Given the description of an element on the screen output the (x, y) to click on. 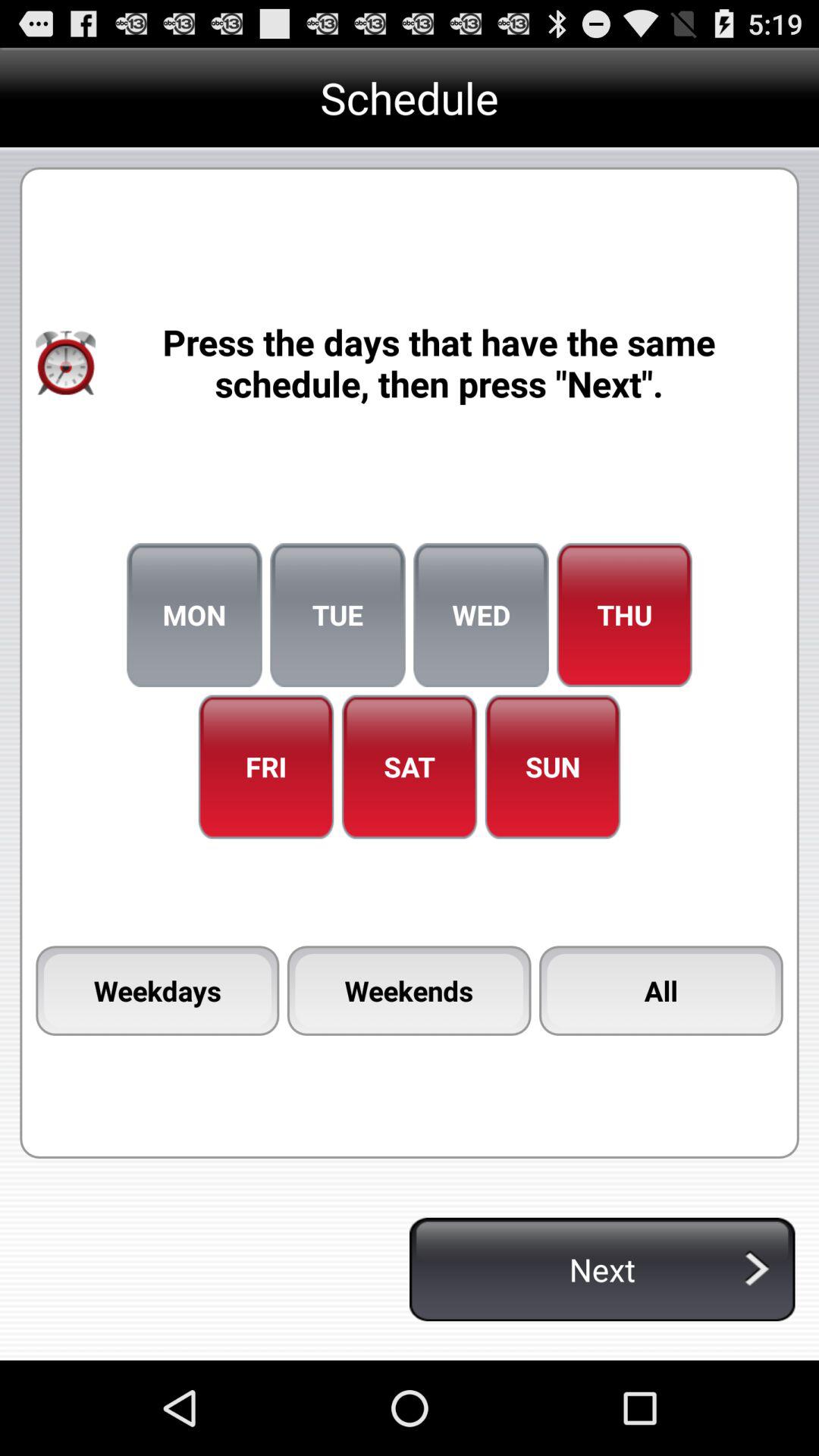
turn off item below the wed item (552, 766)
